Given the description of an element on the screen output the (x, y) to click on. 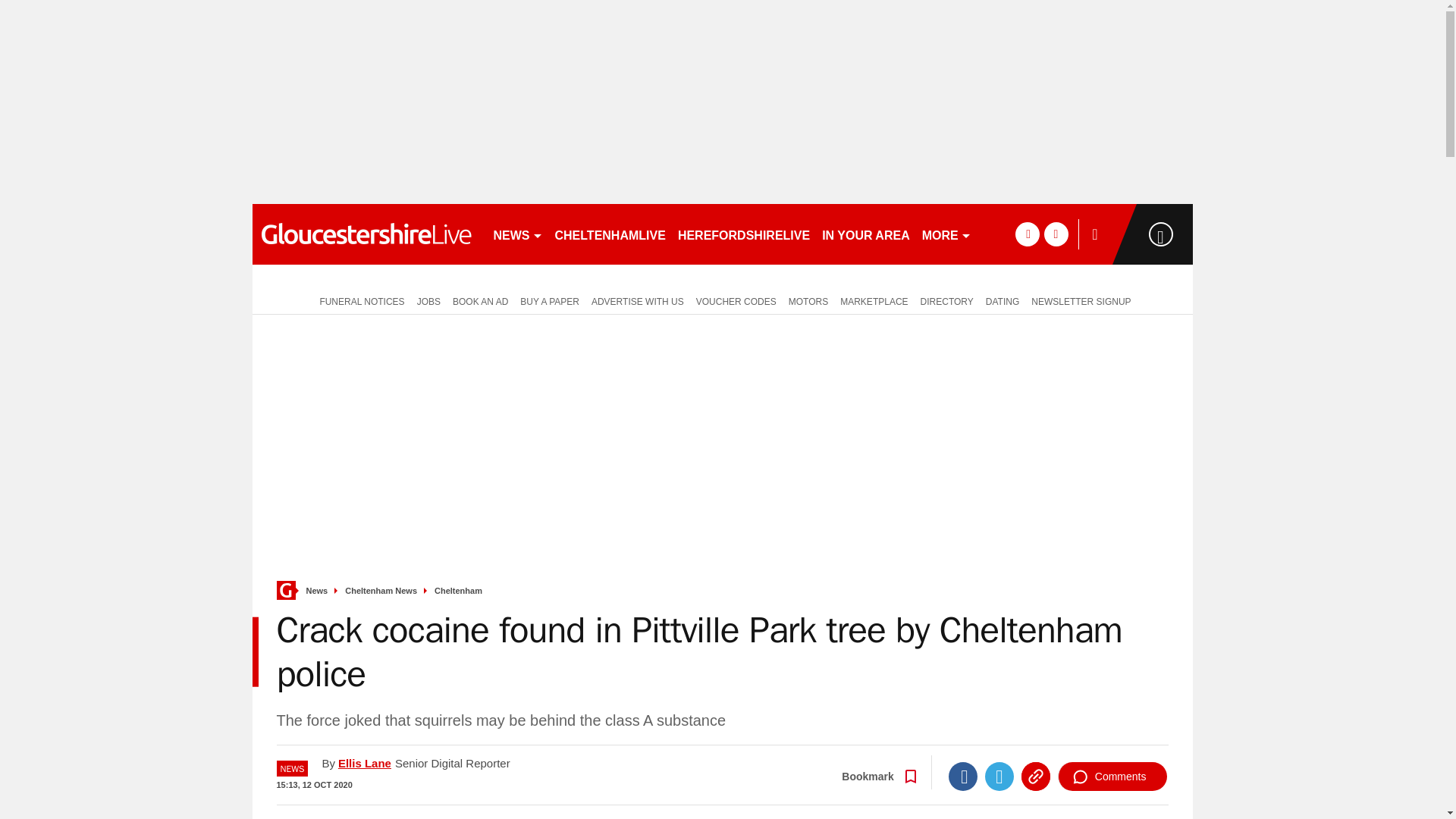
Twitter (999, 776)
CHELTENHAMLIVE (609, 233)
Facebook (962, 776)
IN YOUR AREA (865, 233)
HEREFORDSHIRELIVE (743, 233)
NEWS (517, 233)
MORE (945, 233)
gloucestershirelive (365, 233)
Comments (1112, 776)
facebook (1026, 233)
